Given the description of an element on the screen output the (x, y) to click on. 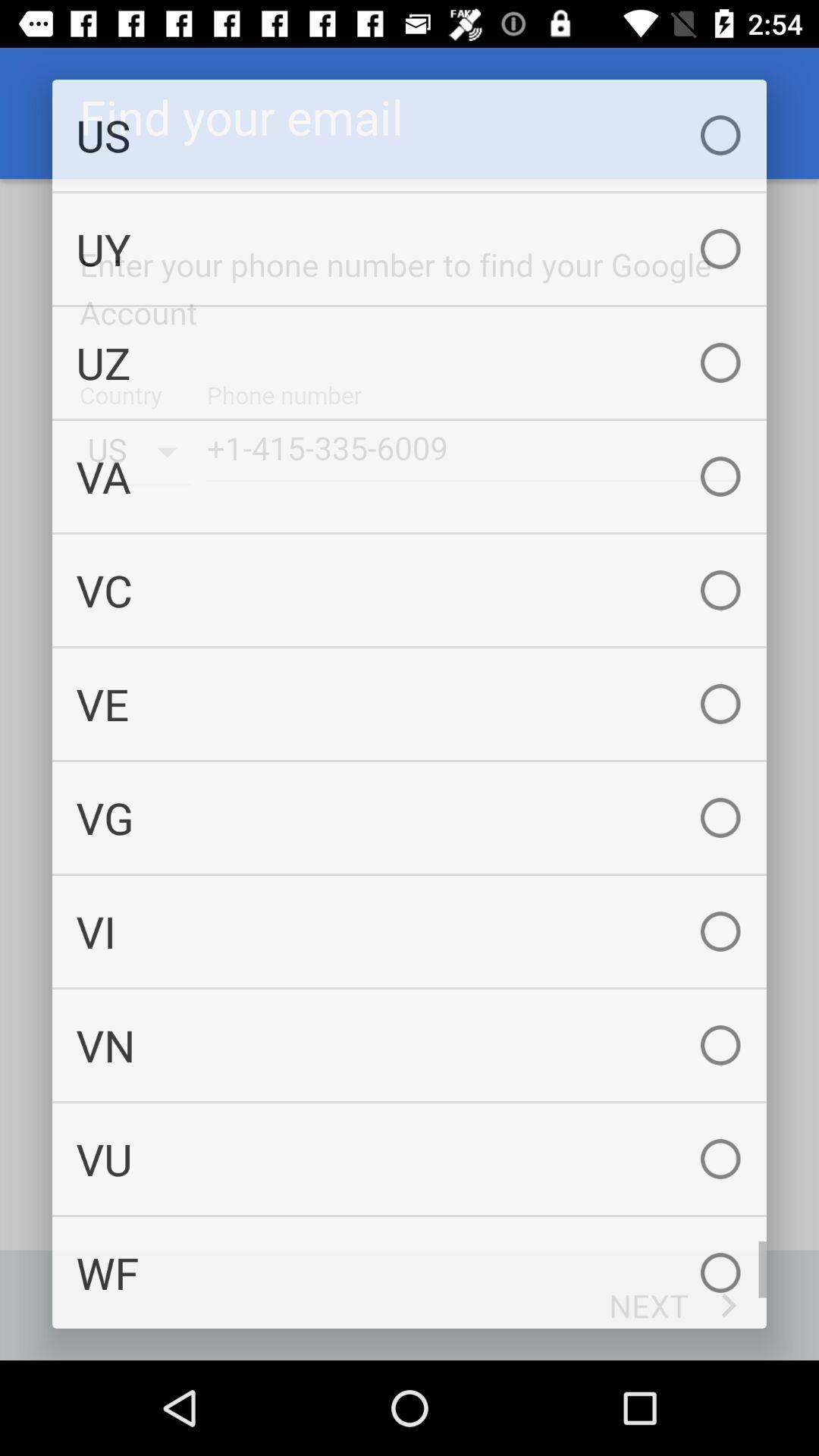
scroll until the vn checkbox (409, 1045)
